Given the description of an element on the screen output the (x, y) to click on. 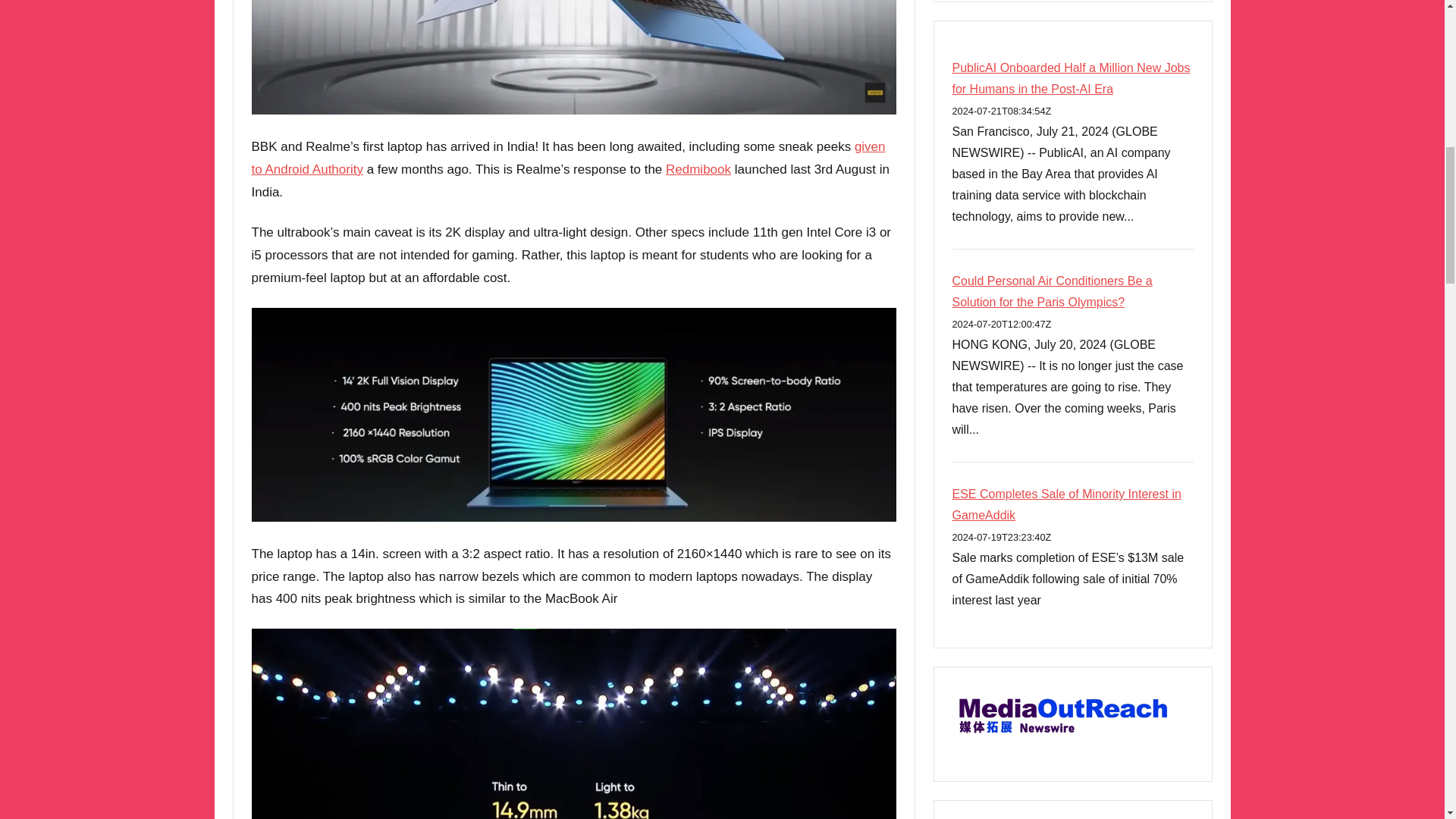
given to Android Authority (568, 157)
Redmibook (697, 169)
